Given the description of an element on the screen output the (x, y) to click on. 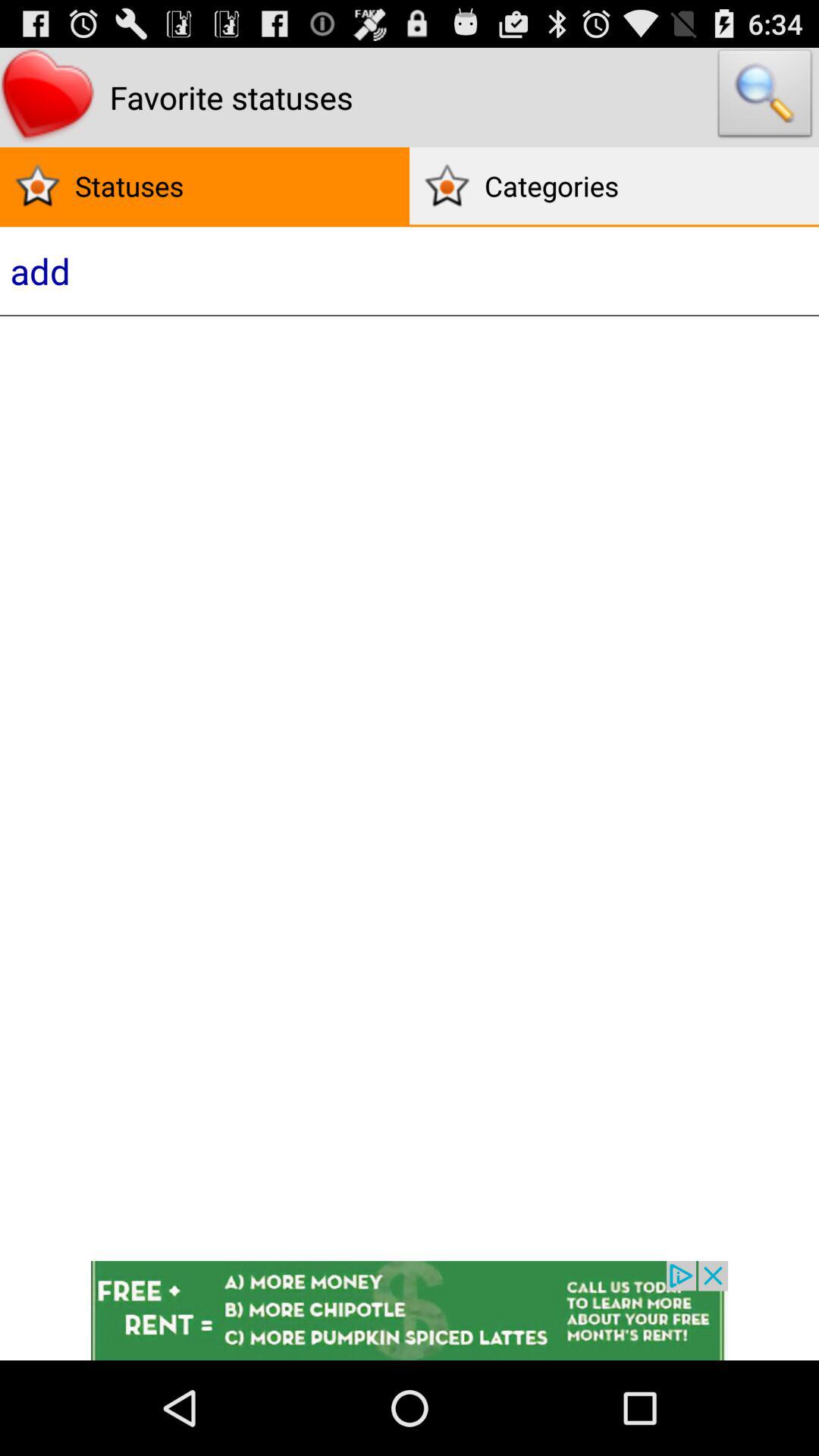
click advertisement (409, 1310)
